Given the description of an element on the screen output the (x, y) to click on. 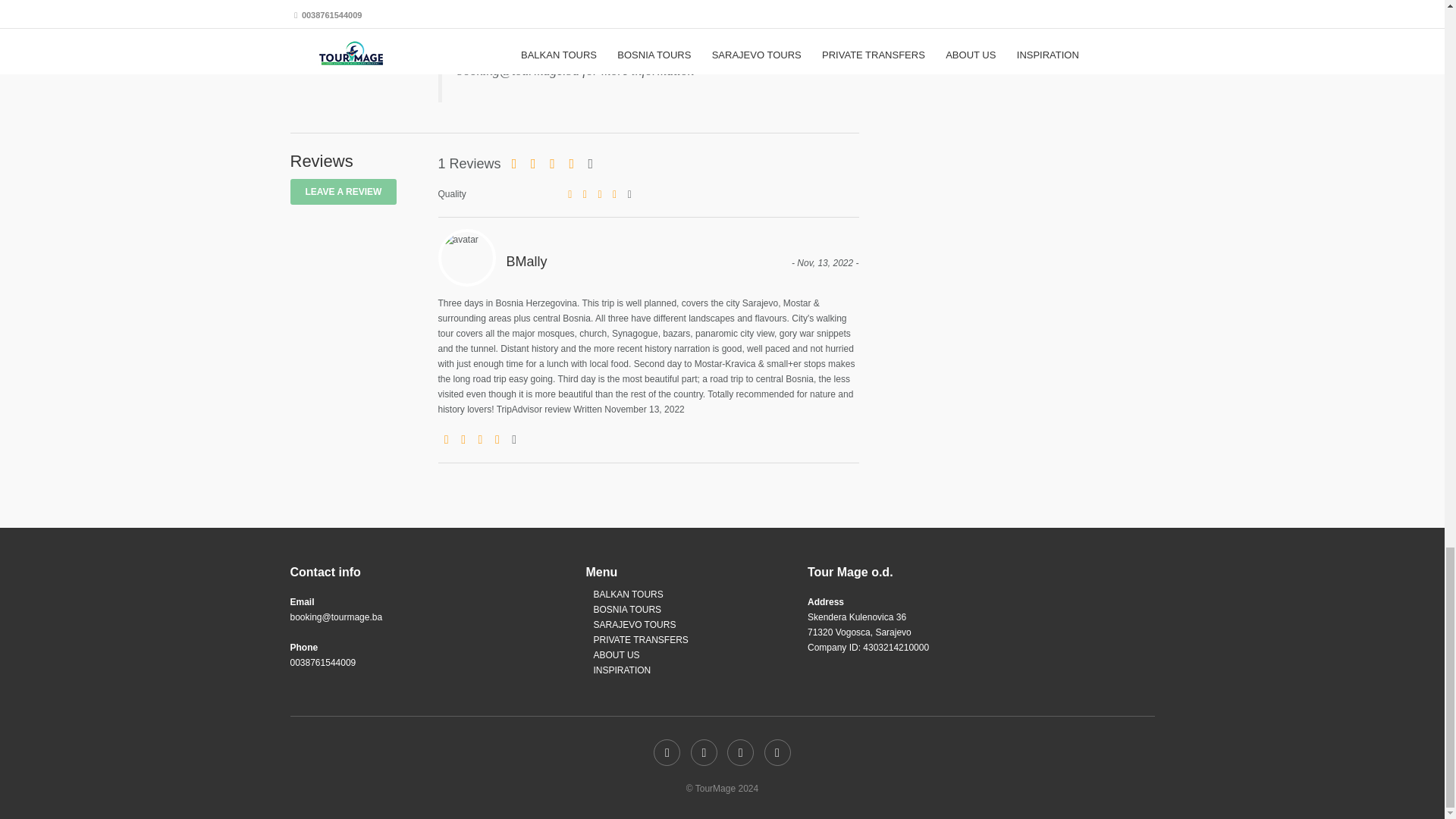
INSPIRATION (621, 670)
ABOUT US (615, 655)
LEAVE A REVIEW (342, 191)
PRIVATE TRANSFERS (639, 639)
BOSNIA TOURS (626, 609)
BALKAN TOURS (627, 593)
SARAJEVO TOURS (633, 624)
